Given the description of an element on the screen output the (x, y) to click on. 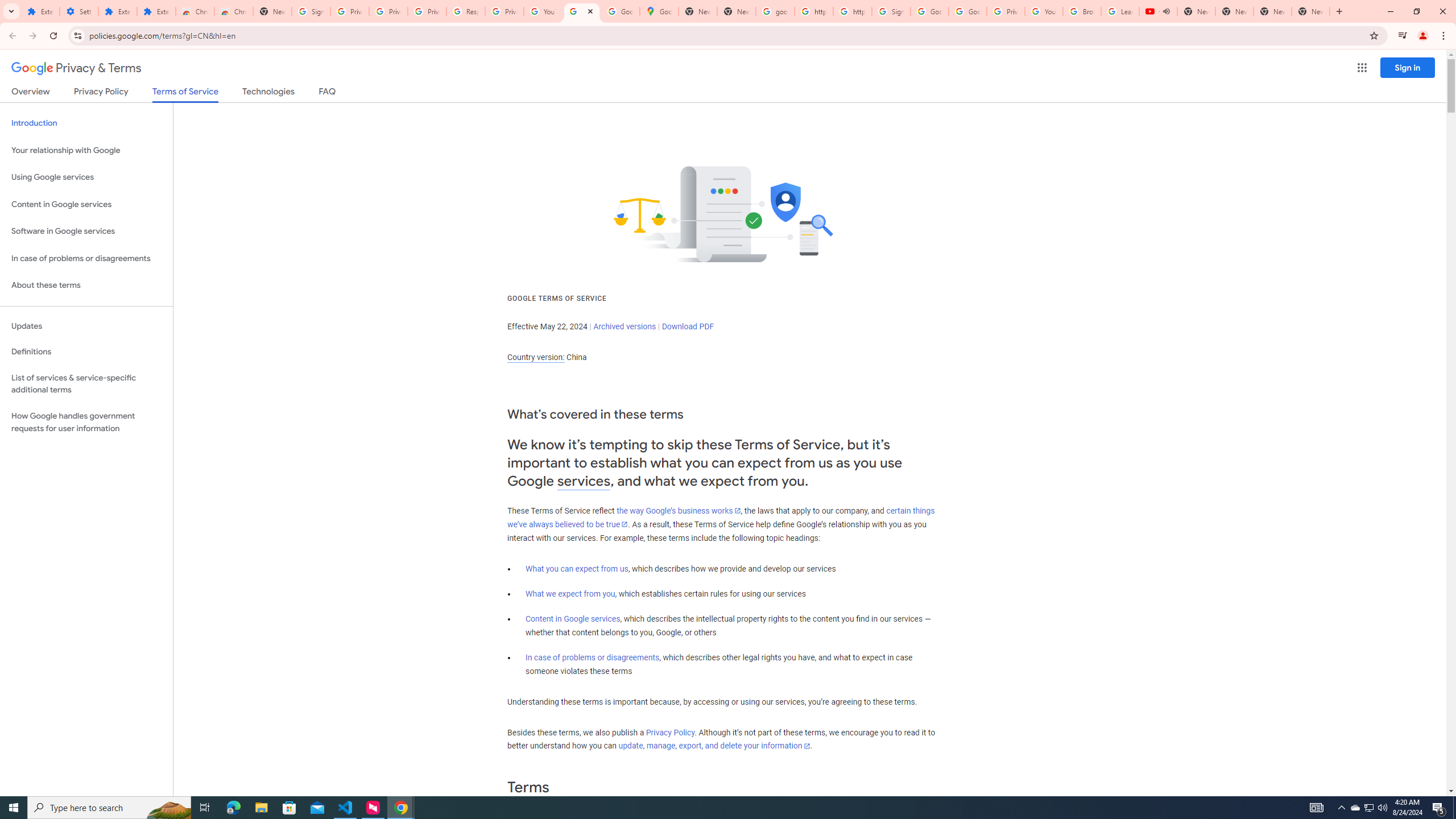
Country version: (535, 357)
Settings (79, 11)
Archived versions (624, 326)
In case of problems or disagreements (592, 657)
Google Maps (659, 11)
New Tab (272, 11)
YouTube (1043, 11)
Chrome Web Store (194, 11)
Content in Google services (572, 618)
